Given the description of an element on the screen output the (x, y) to click on. 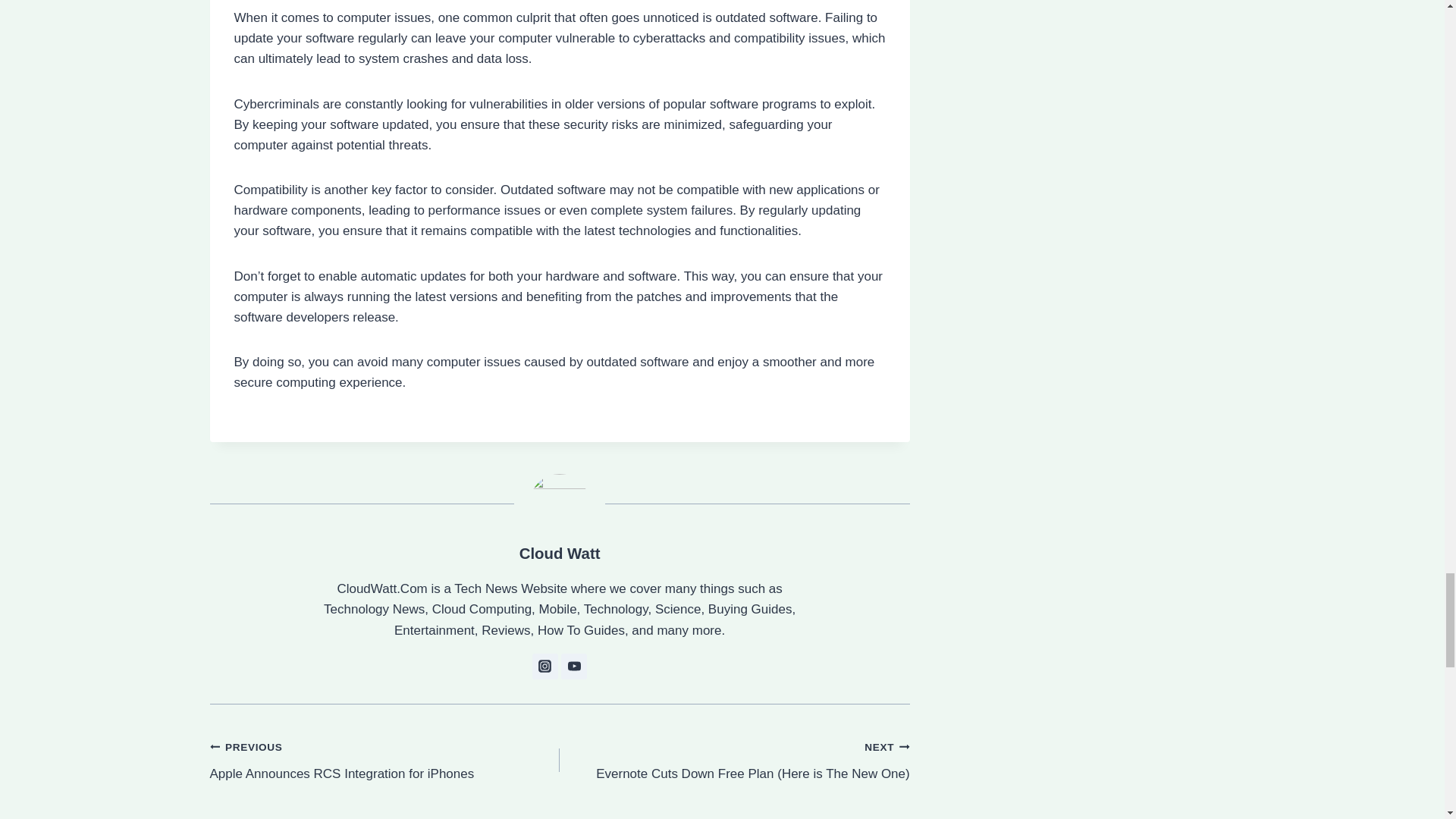
Posts by Cloud Watt (559, 553)
Follow Cloud Watt on Youtube (384, 759)
Cloud Watt (573, 666)
Follow Cloud Watt on Instagram (559, 553)
